Given the description of an element on the screen output the (x, y) to click on. 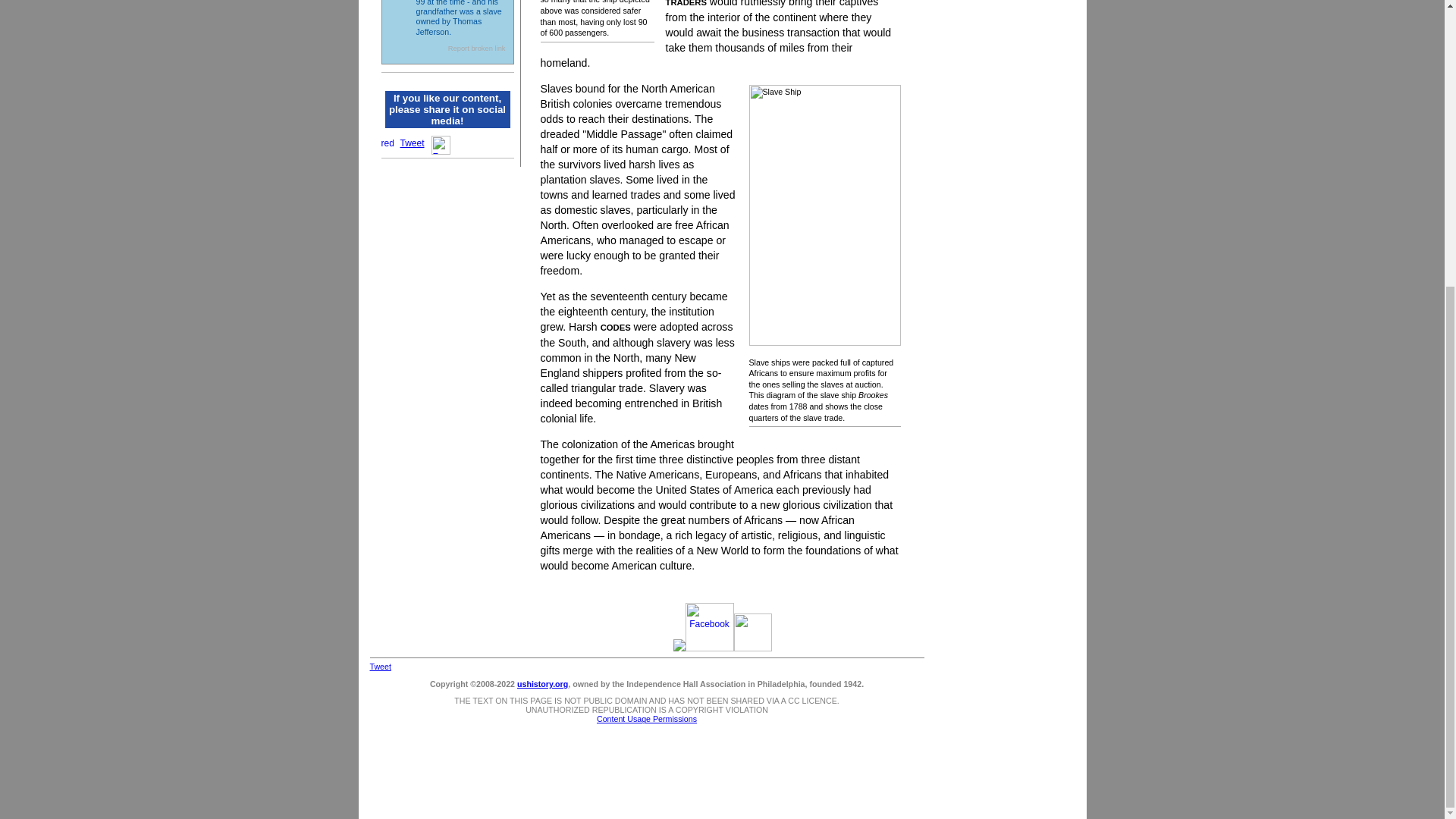
Tweet (380, 665)
Report broken link (476, 48)
Facebook (439, 144)
ushistory.org (541, 683)
reddit (386, 141)
The Broken Link reporting feature is temporarily unavailable (476, 48)
Content Usage Permissions (646, 718)
Tweet (412, 143)
